Given the description of an element on the screen output the (x, y) to click on. 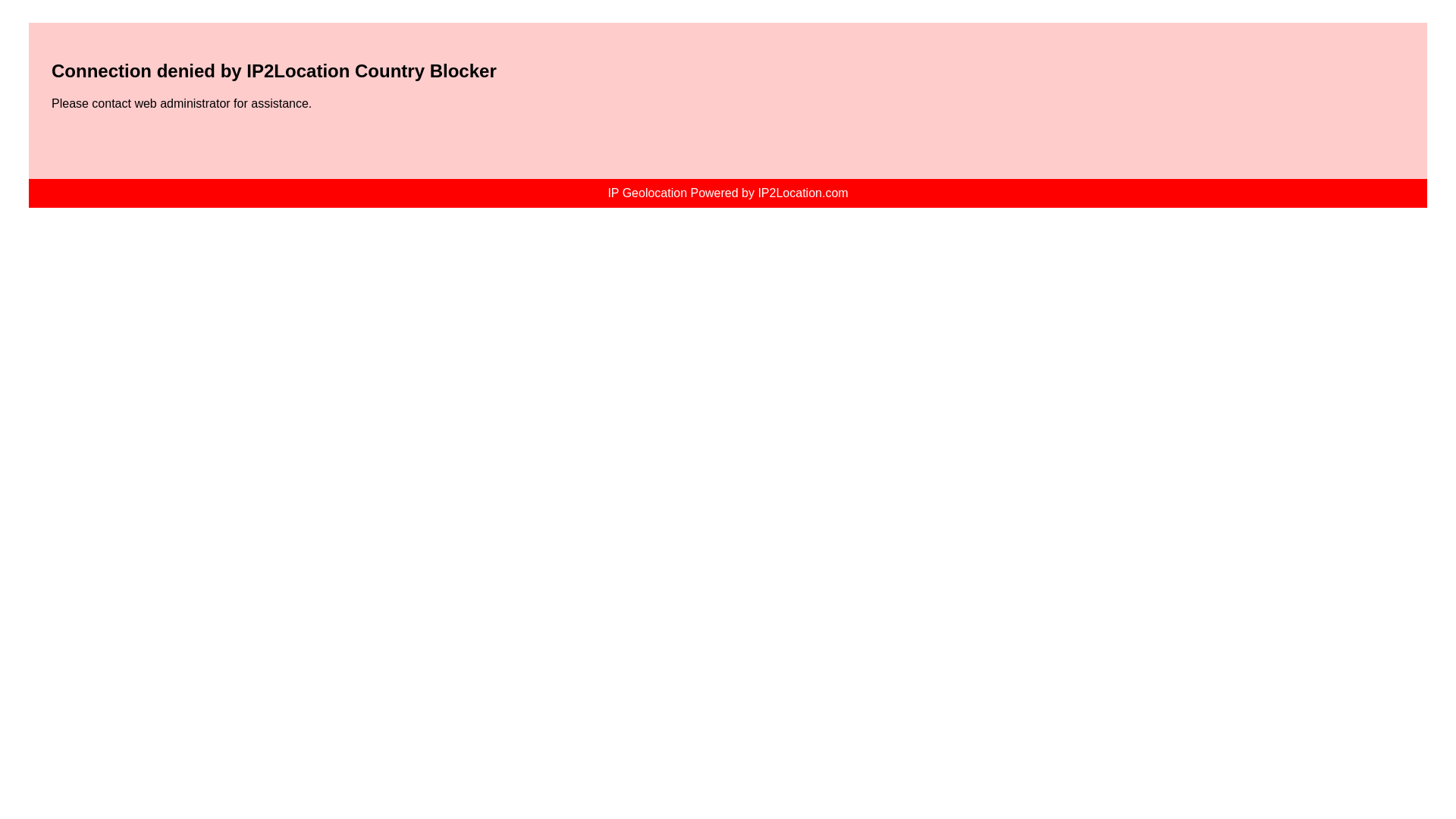
IP Geolocation Powered by IP2Location.com (727, 192)
